Given the description of an element on the screen output the (x, y) to click on. 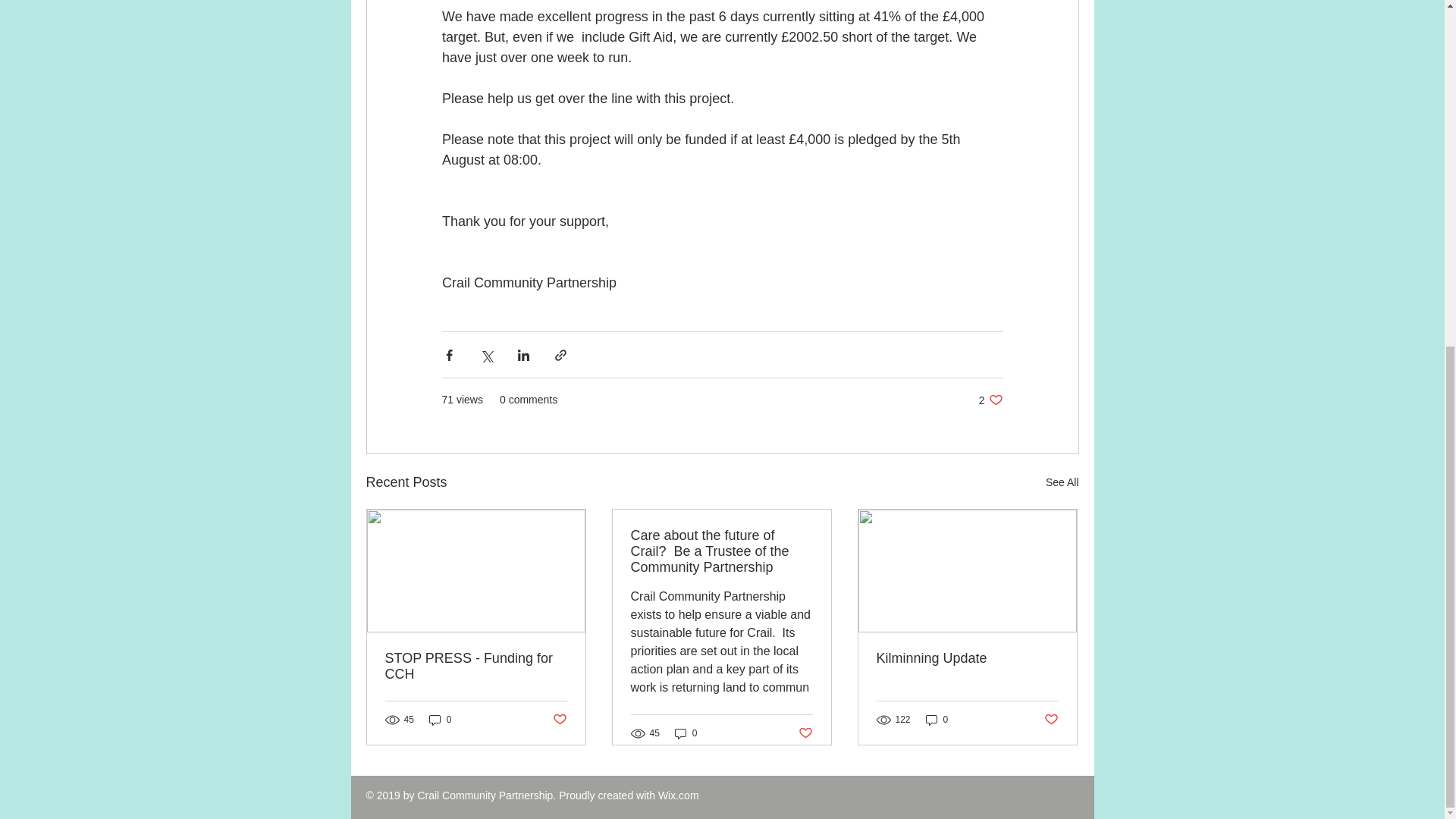
STOP PRESS - Funding for CCH (476, 666)
0 (990, 400)
0 (440, 718)
See All (685, 732)
Post not marked as liked (1061, 482)
Post not marked as liked (804, 733)
